Given the description of an element on the screen output the (x, y) to click on. 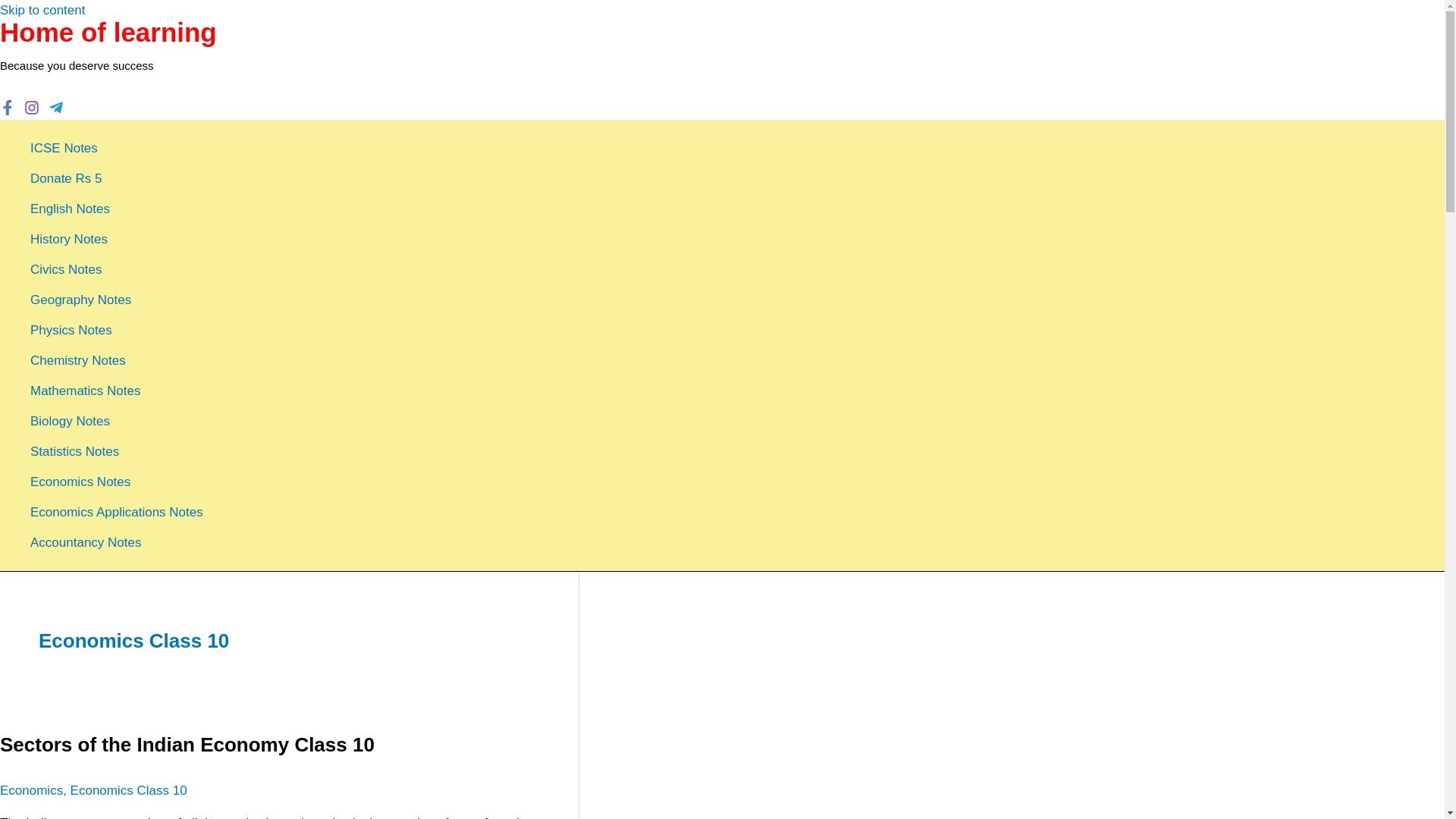
Donate Rs 5 (116, 178)
Chemistry Notes (116, 360)
Mathematics Notes (116, 390)
Economics (31, 789)
Sectors of the Indian Economy Class 10 (187, 744)
English Notes (116, 209)
Economics Class 10 (128, 789)
Skip to content (42, 10)
Skip to content (42, 10)
Physics Notes (116, 330)
History Notes (116, 239)
Geography Notes (116, 300)
Civics Notes (116, 269)
ICSE Notes (116, 148)
Statistics Notes (116, 451)
